Given the description of an element on the screen output the (x, y) to click on. 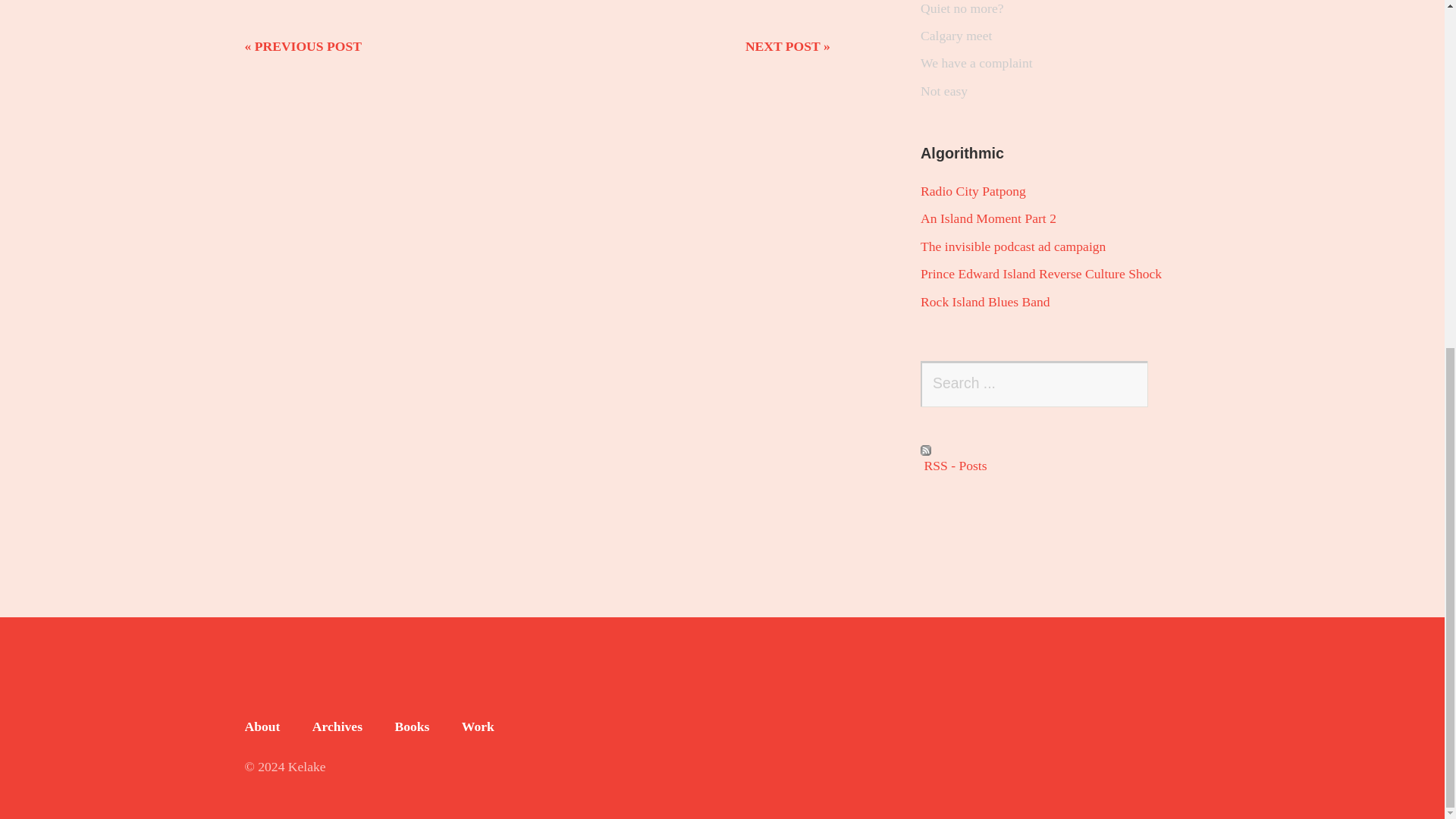
Search (1126, 384)
Calgary meet (955, 35)
Work (478, 726)
About (261, 726)
Quiet no more? (961, 7)
We have a complaint (976, 62)
Archives (337, 726)
 RSS - Posts (1056, 459)
Radio City Patpong (973, 191)
modafinil200mg.net (301, 706)
